Given the description of an element on the screen output the (x, y) to click on. 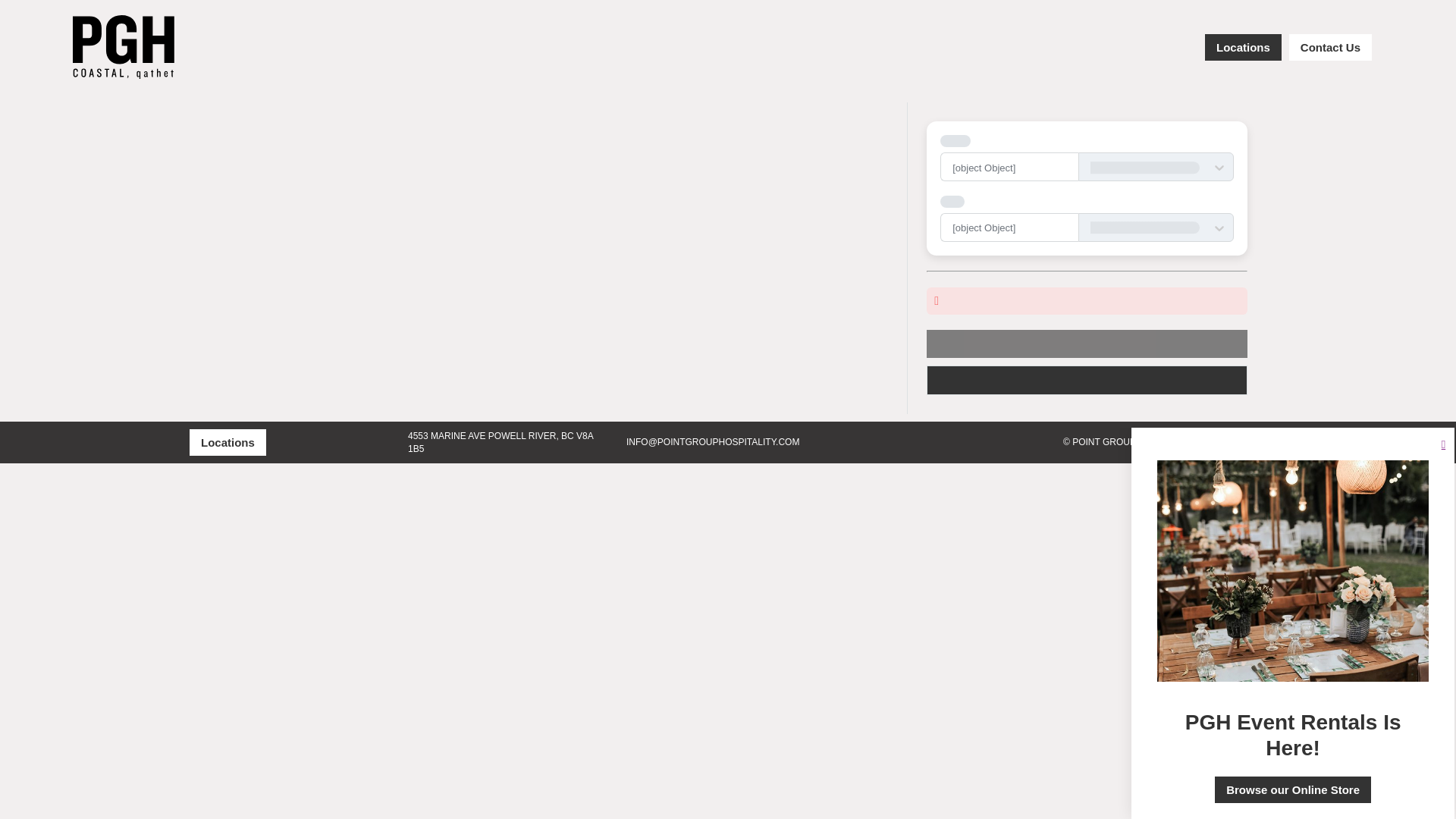
Locations (1243, 47)
Locations (227, 442)
Contact Us (1329, 47)
